Given the description of an element on the screen output the (x, y) to click on. 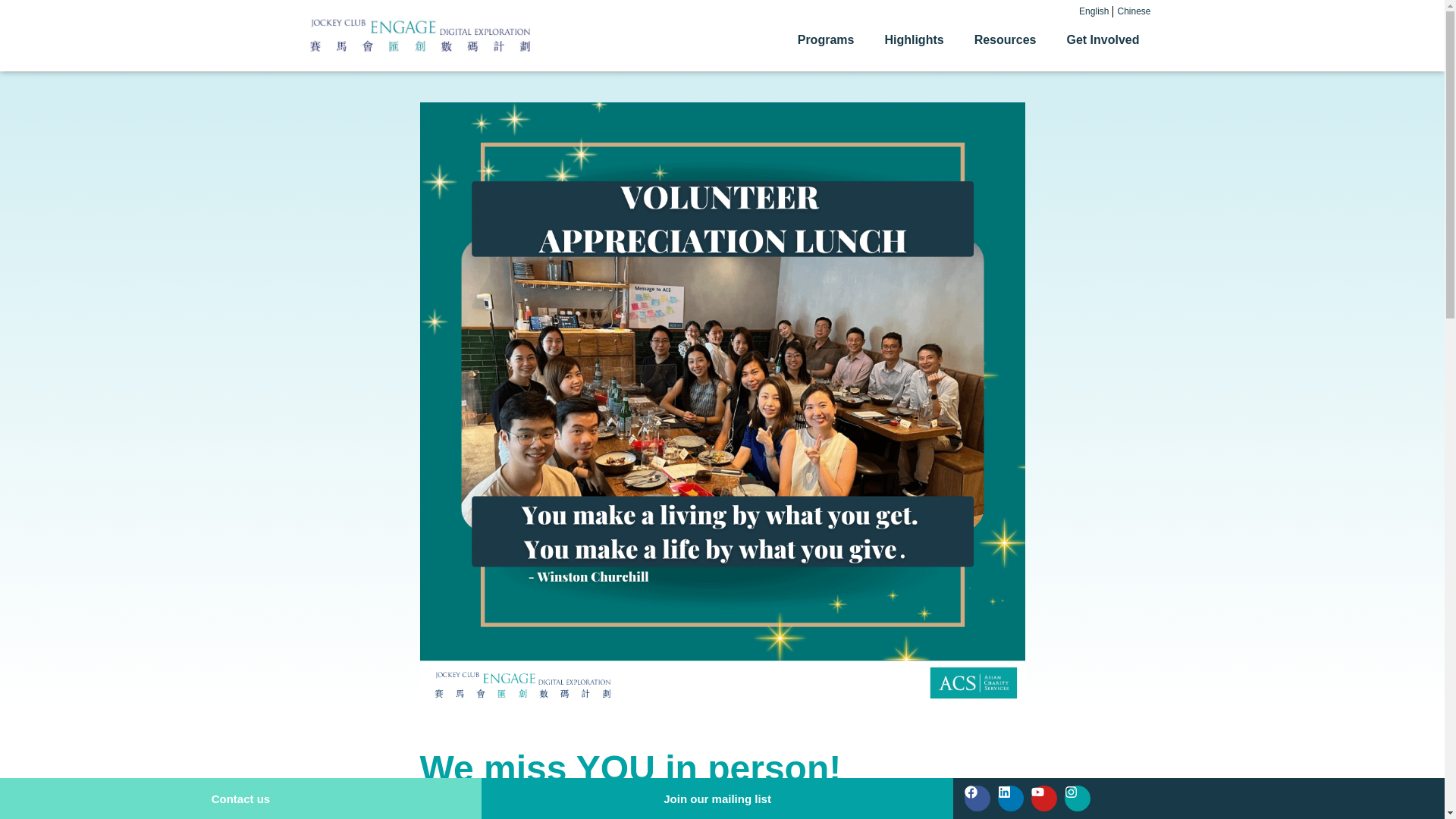
Get Involved (1106, 39)
English (1093, 11)
Chinese (1133, 11)
Highlights (917, 39)
Programs (829, 39)
Resources (1008, 39)
